Given the description of an element on the screen output the (x, y) to click on. 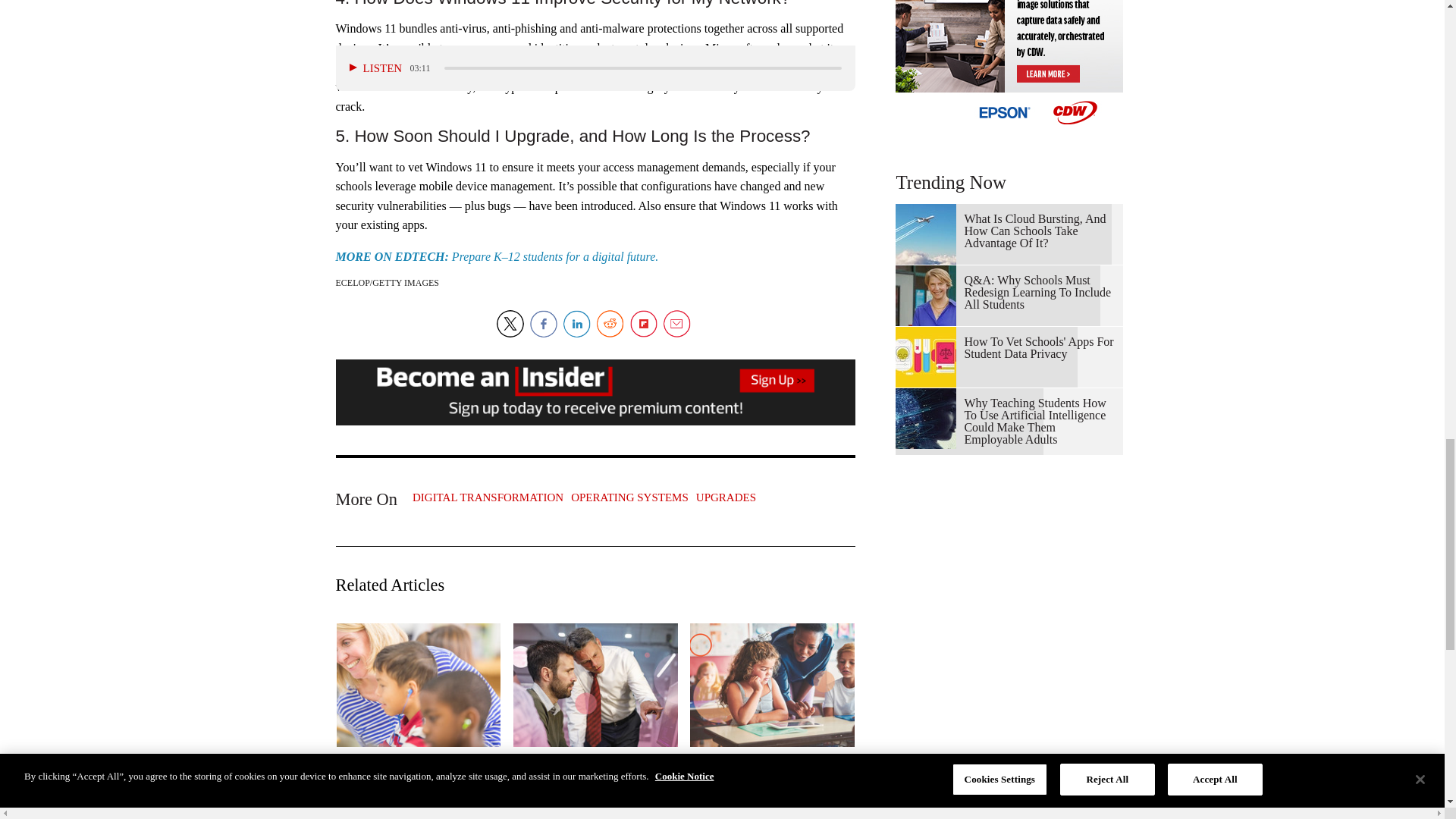
advertisement (1008, 66)
